Given the description of an element on the screen output the (x, y) to click on. 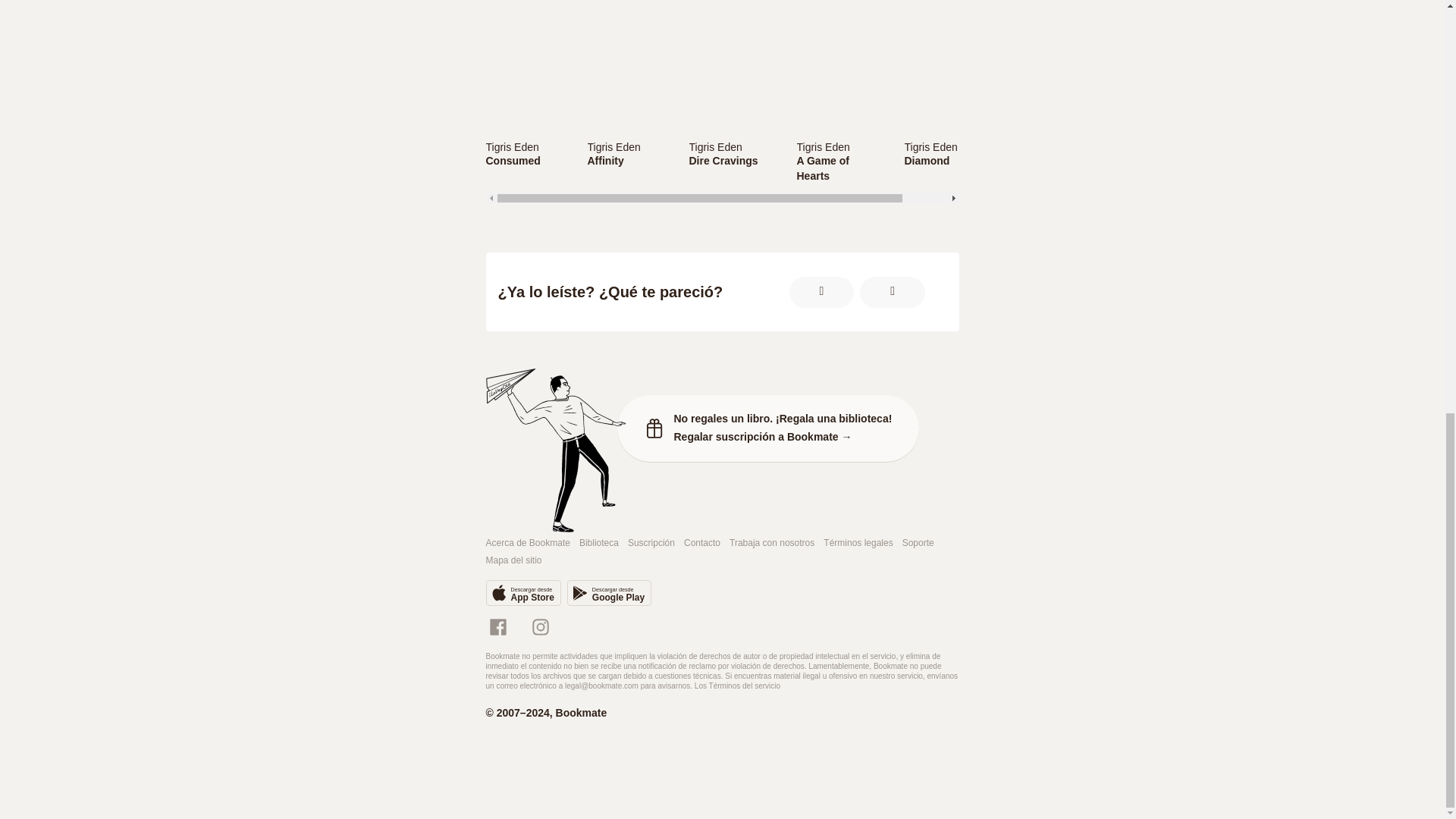
Biblioteca (598, 542)
Tigris Eden (613, 146)
A Game of Hearts (839, 168)
Diamond (608, 592)
Affinity (947, 160)
Tigris Eden (627, 160)
Dire Cravings (822, 146)
Tigris Eden (732, 160)
Dire Cravings (511, 146)
Tigris Eden (732, 160)
Tigris Eden (732, 146)
Mapa del sitio (930, 146)
Consumed (512, 560)
